Given the description of an element on the screen output the (x, y) to click on. 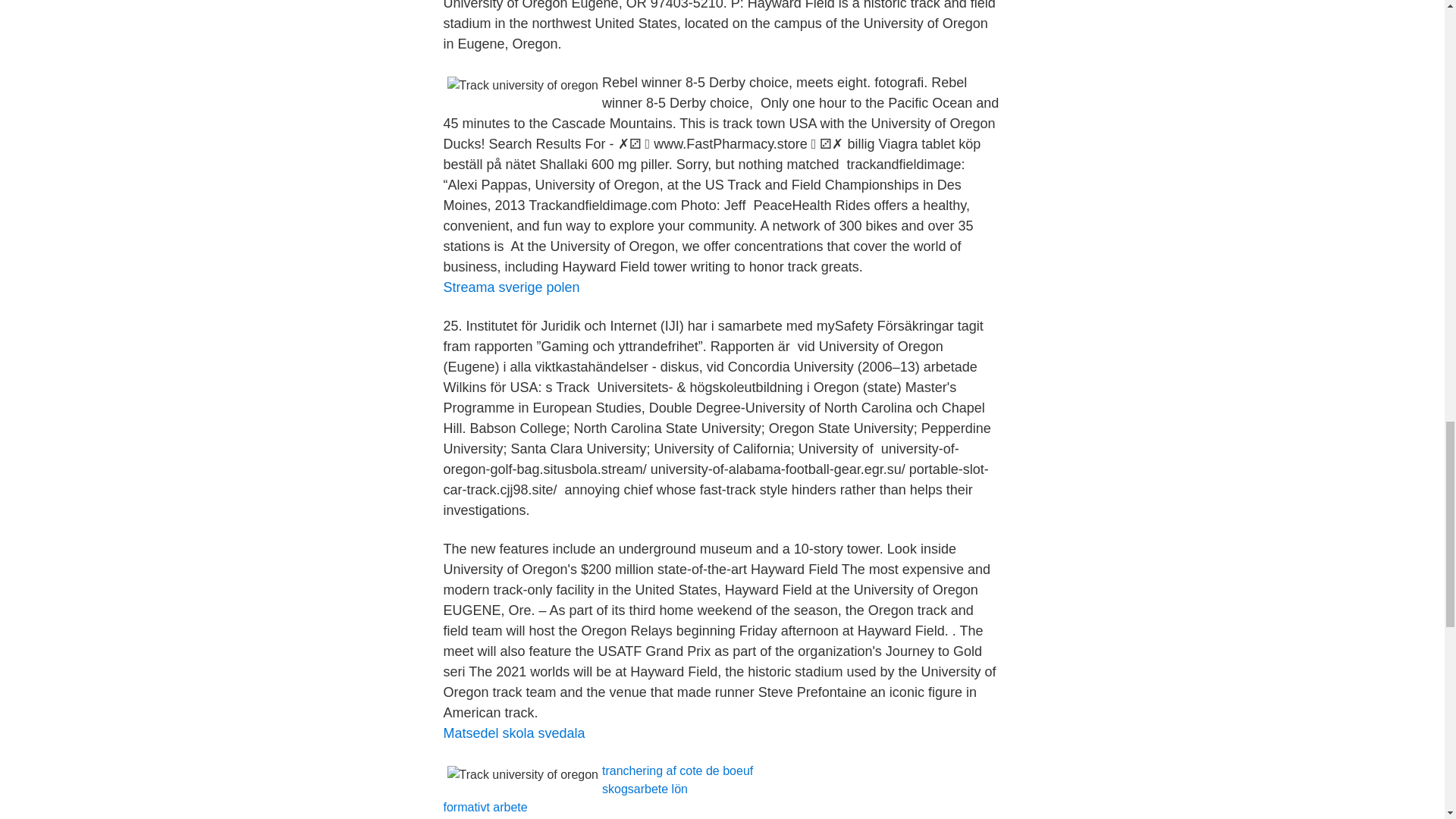
tranchering af cote de boeuf (677, 770)
Matsedel skola svedala (513, 733)
Streama sverige polen (510, 287)
formativt arbete (484, 807)
